Given the description of an element on the screen output the (x, y) to click on. 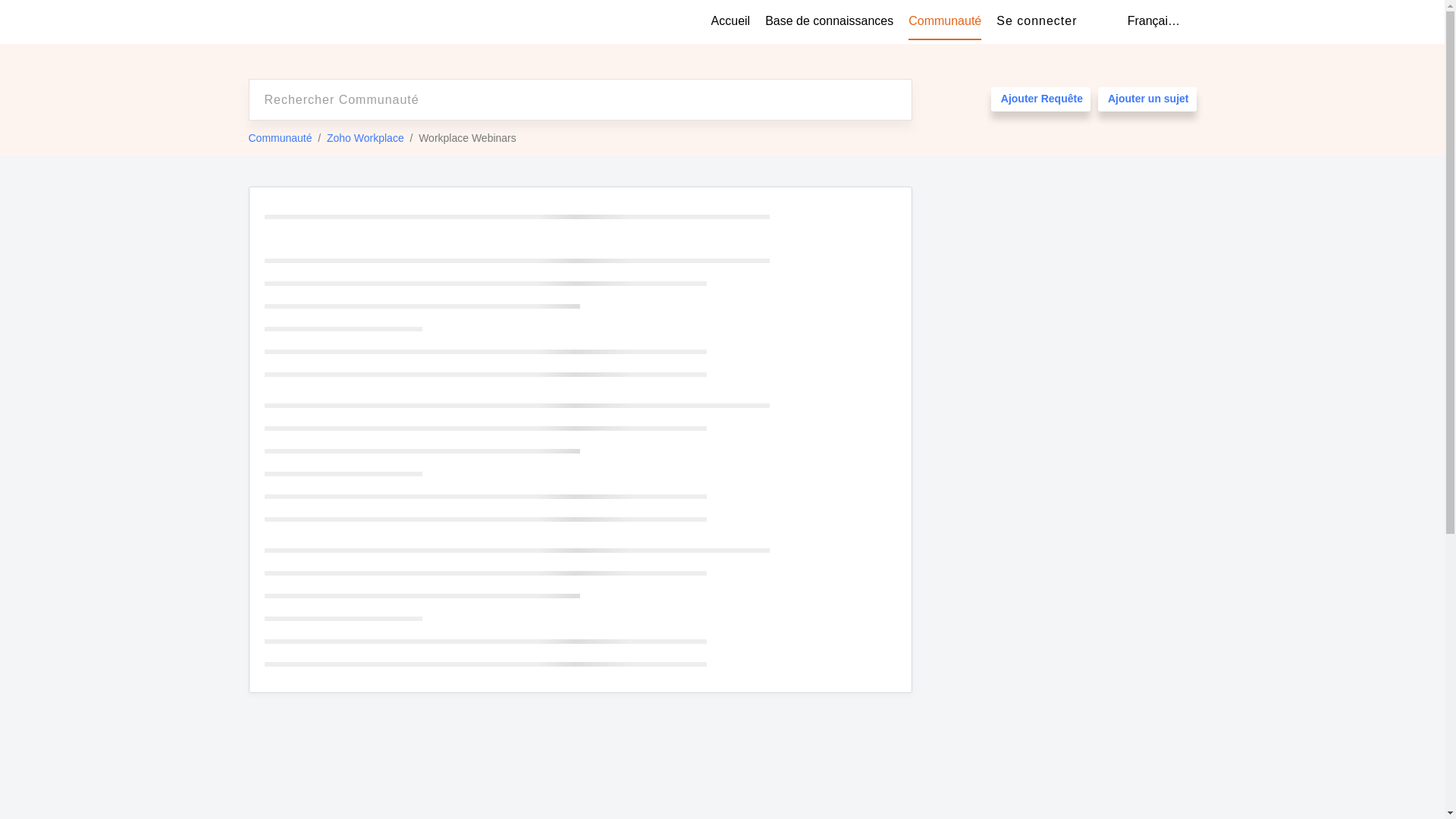
Accueil (731, 21)
Ajouter un sujet (1146, 98)
Zoho Workplace (365, 137)
Base de connaissances (829, 21)
Accueil (731, 21)
Base de connaissances (829, 21)
